Given the description of an element on the screen output the (x, y) to click on. 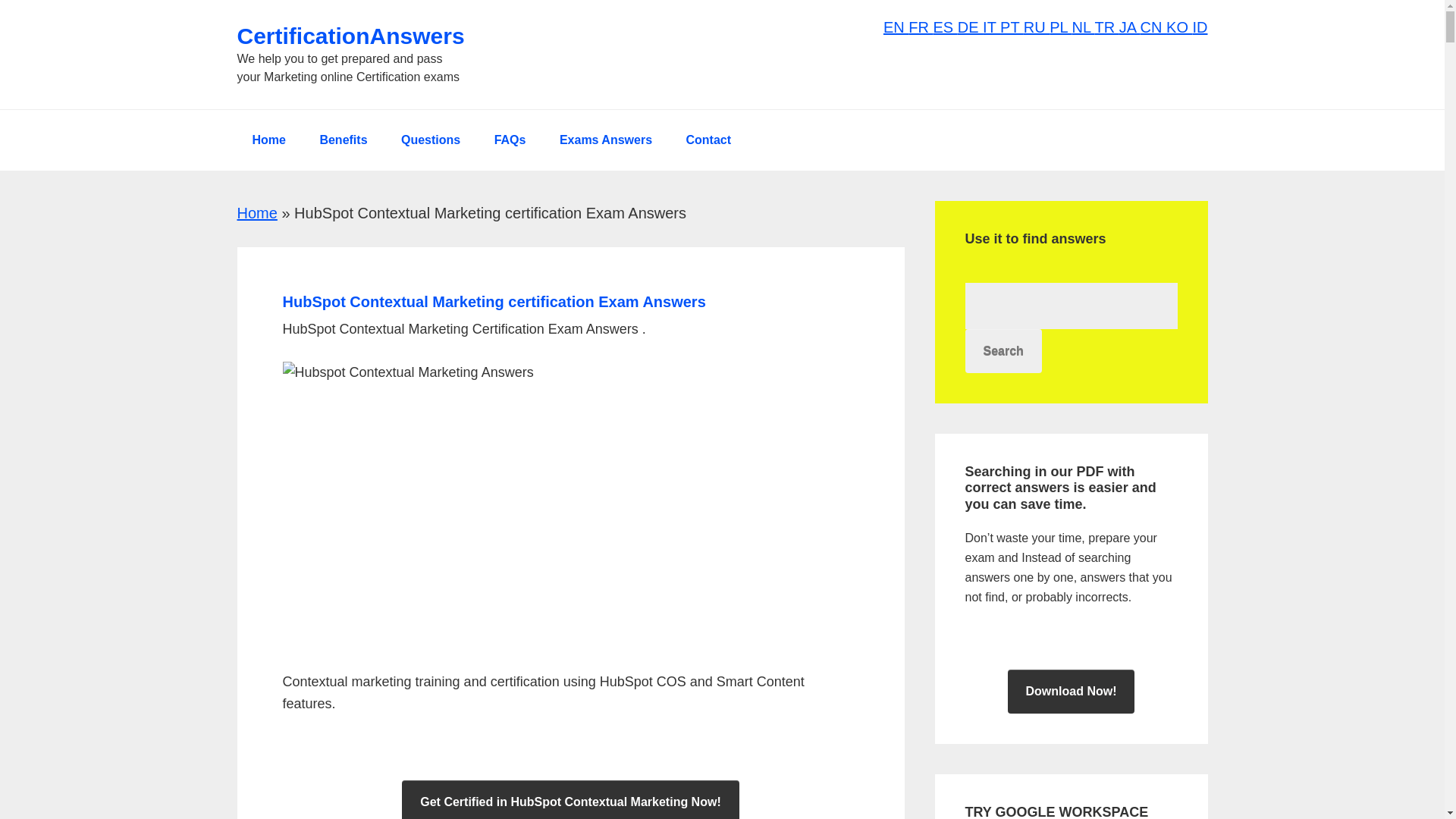
CN (1153, 27)
ID (1199, 27)
Home (267, 139)
KO (1179, 27)
RU (1036, 27)
ES (944, 27)
FR (920, 27)
JA (1129, 27)
Exams Answers (605, 139)
DE (970, 27)
